Given the description of an element on the screen output the (x, y) to click on. 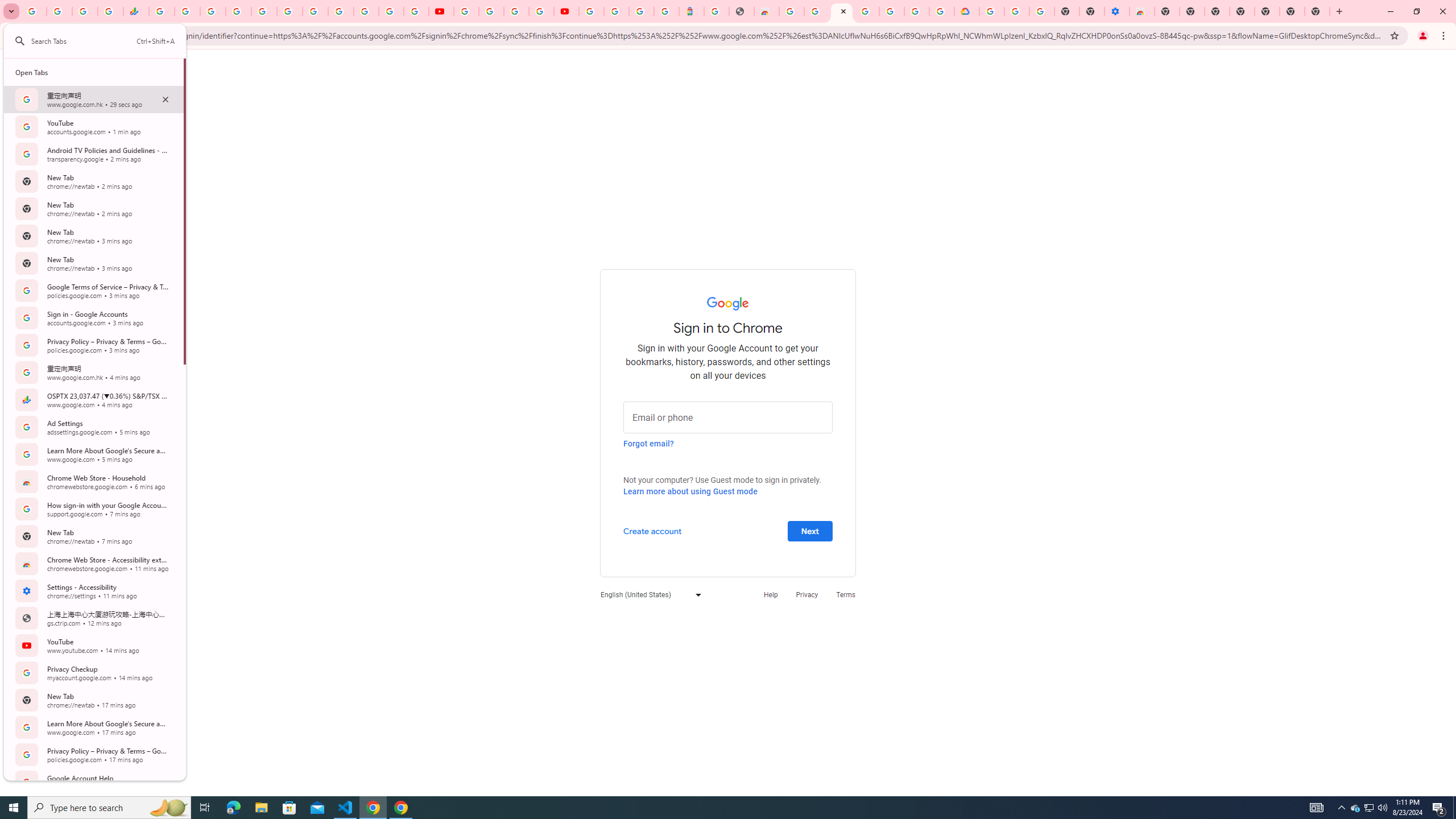
Q2790: 100% (1382, 807)
Sign in - Google Accounts (916, 11)
YouTube (465, 11)
New Tab newtab 2 mins ago Open Tab (93, 208)
Google Account Help support.google.com 17 mins ago Open Tab (93, 782)
Chrome Web Store - Household (766, 11)
Search highlights icon opens search home window (167, 807)
